Given the description of an element on the screen output the (x, y) to click on. 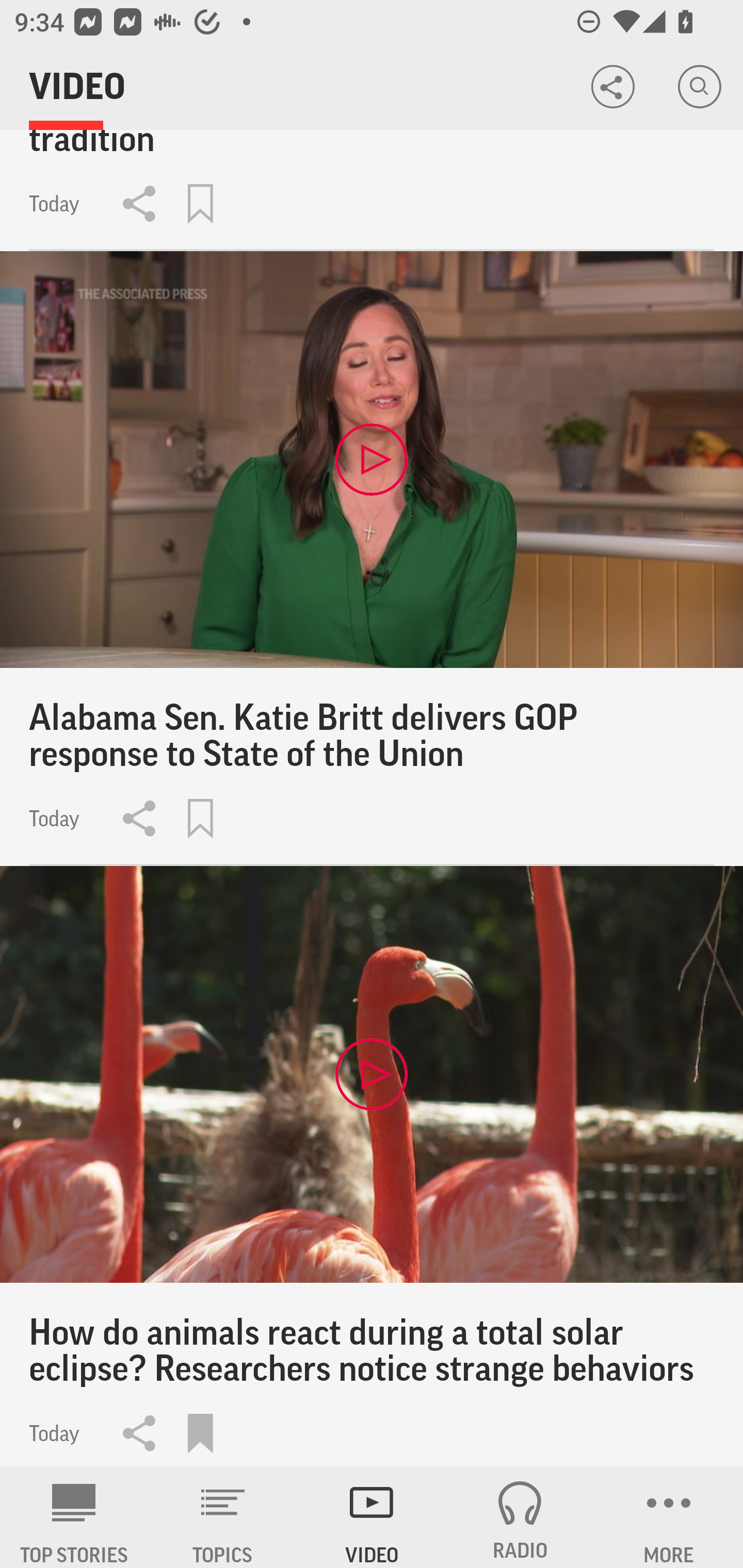
AP News TOP STORIES (74, 1517)
TOPICS (222, 1517)
VIDEO (371, 1517)
RADIO (519, 1517)
MORE (668, 1517)
